Given the description of an element on the screen output the (x, y) to click on. 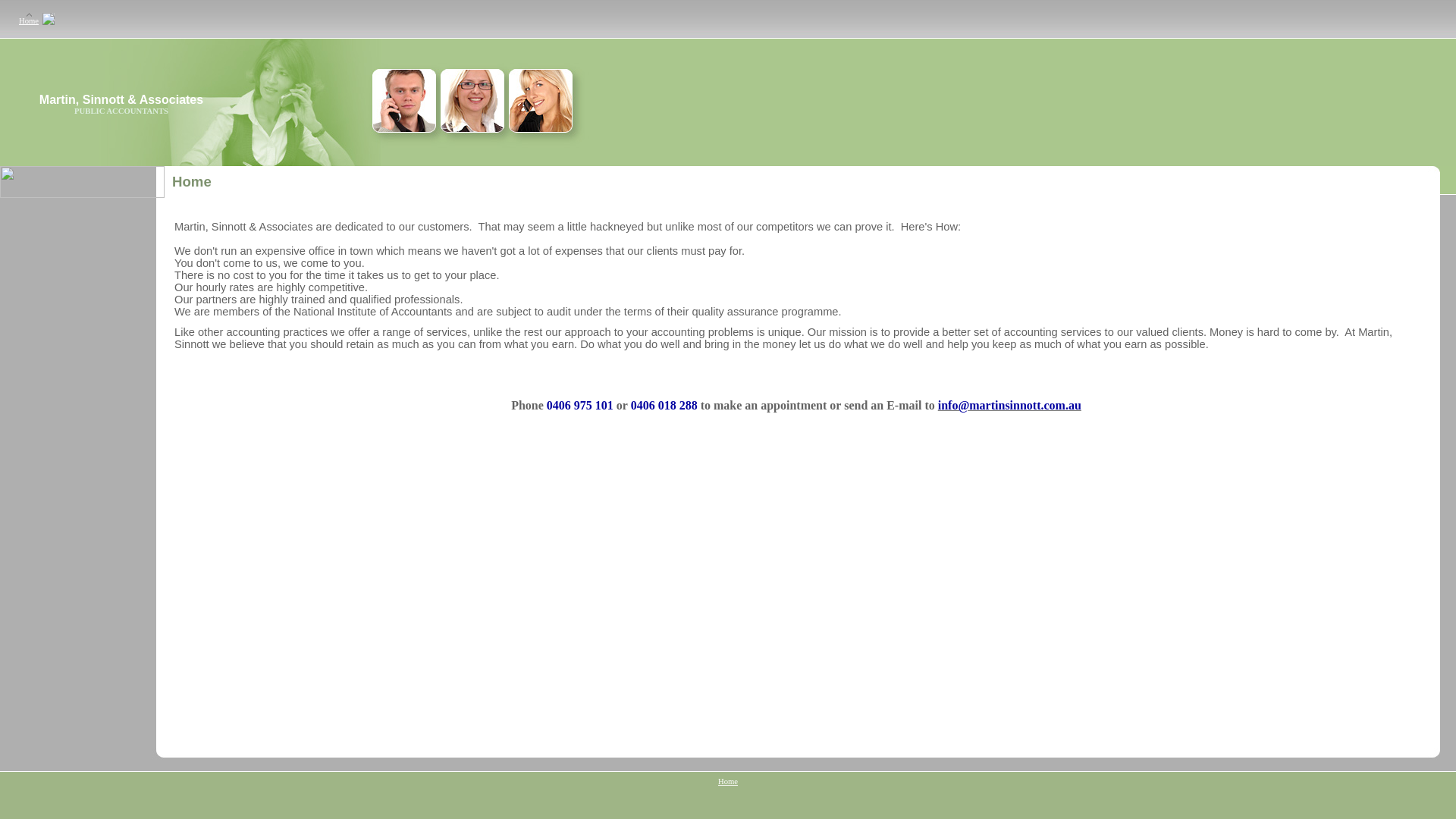
Home Element type: text (727, 781)
info@martinsinnott.com.au Element type: text (1009, 406)
Home Element type: text (28, 21)
